Given the description of an element on the screen output the (x, y) to click on. 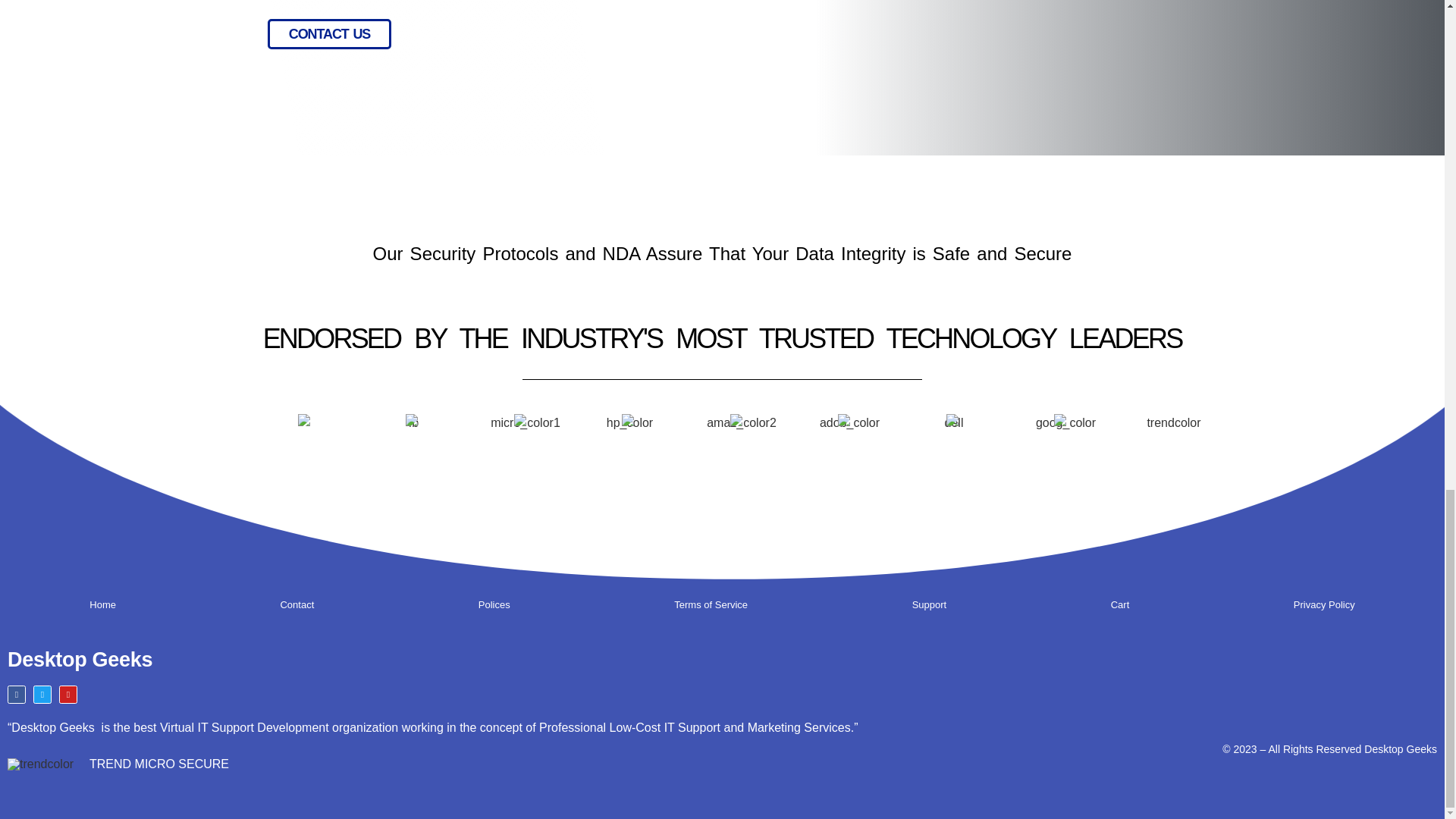
Home (102, 604)
CONTACT US (329, 33)
Contact (297, 604)
Support (928, 604)
Privacy Policy (1324, 604)
Terms of Service (710, 604)
Polices (494, 604)
Cart (1119, 604)
